Given the description of an element on the screen output the (x, y) to click on. 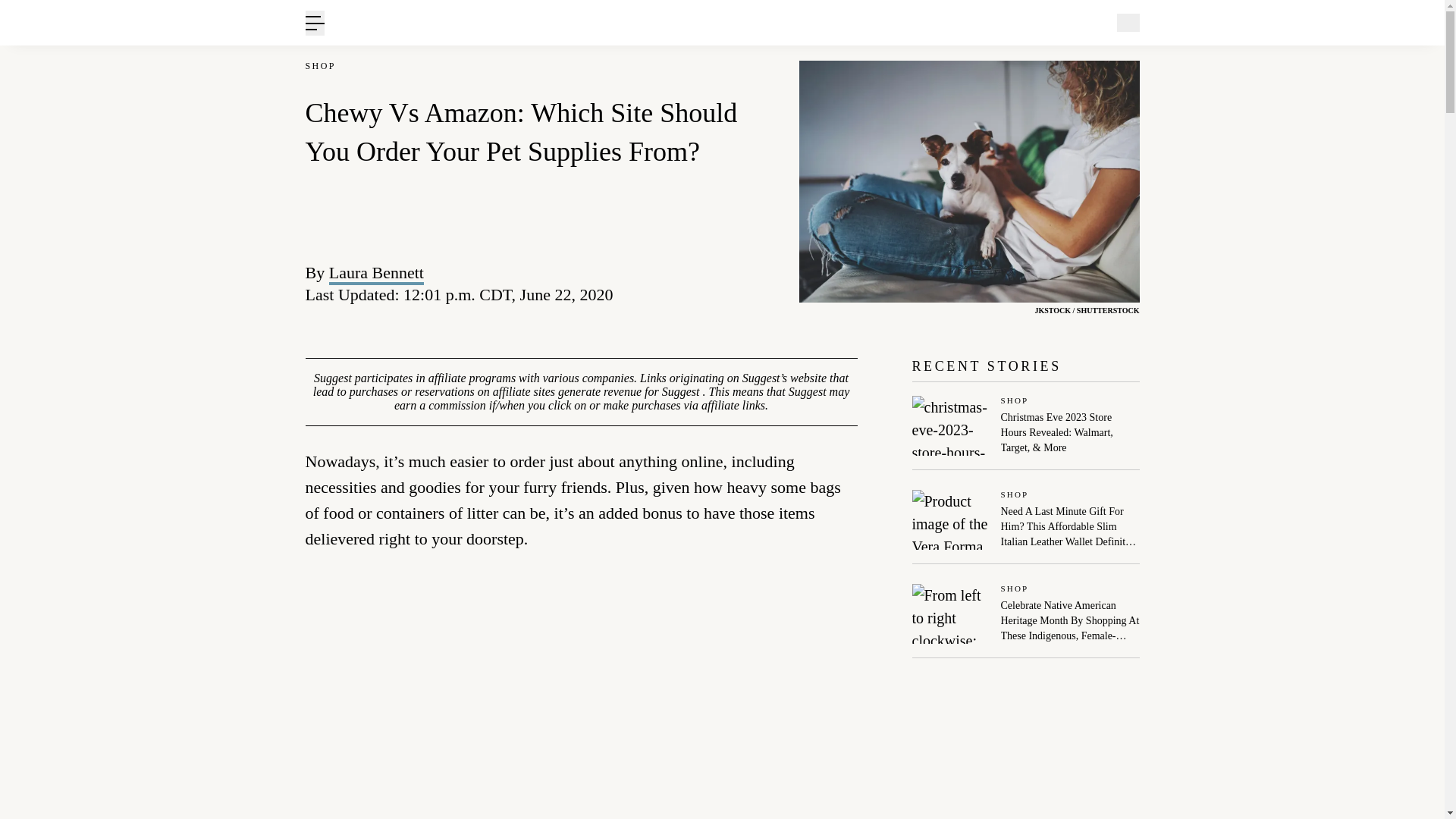
SHOP (319, 66)
Search (1170, 95)
Facebook (678, 282)
Pinterest (712, 282)
Laura Bennett (376, 272)
Twitter (746, 282)
Shop (1070, 401)
